Given the description of an element on the screen output the (x, y) to click on. 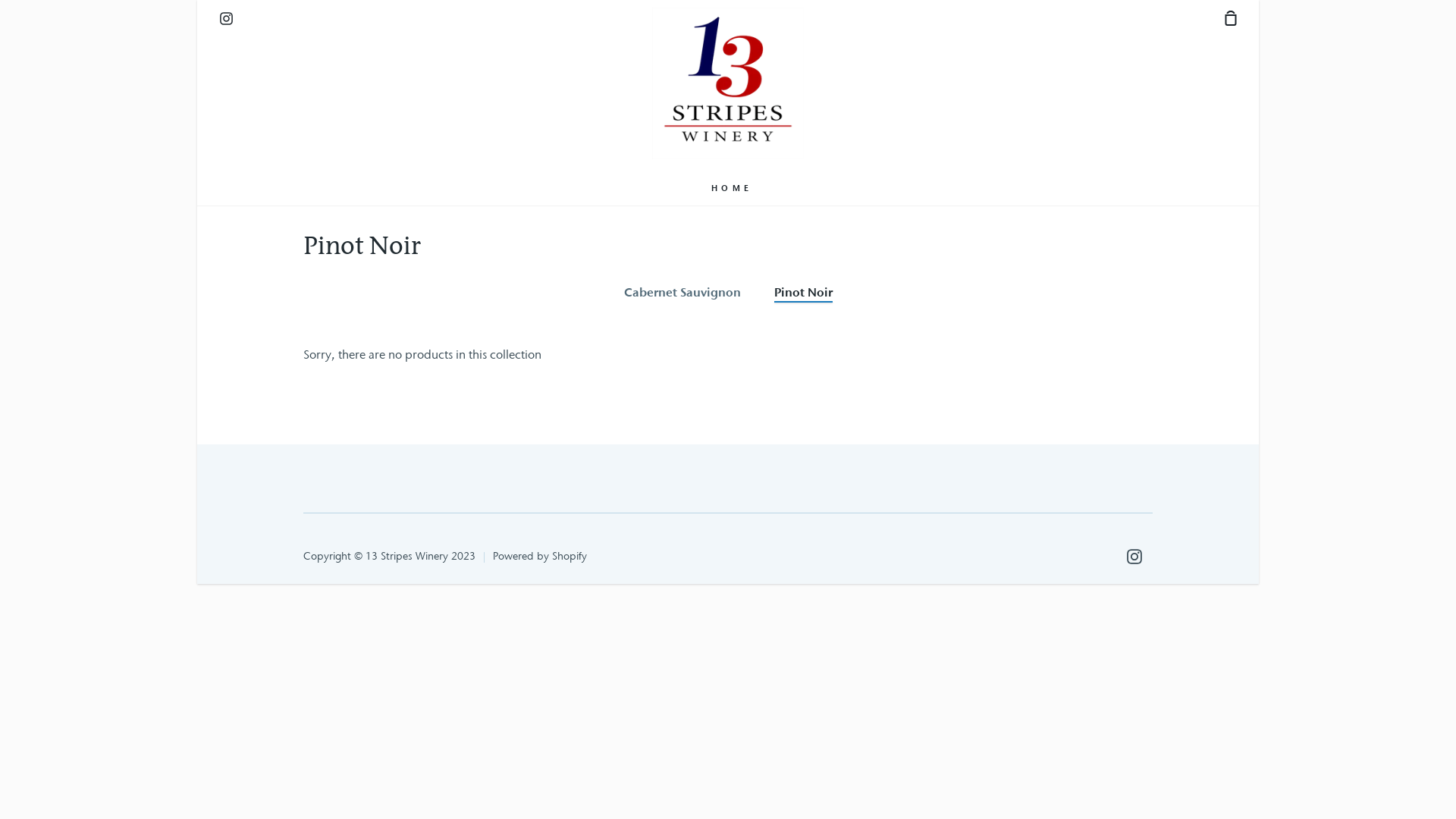
Shopping Cart Element type: text (1224, 17)
HOME Element type: text (731, 187)
Instagram Element type: text (225, 16)
Cabernet Sauvignon Element type: text (681, 291)
Powered by Shopify Element type: text (539, 555)
Pinot Noir Element type: text (802, 291)
Instagram Element type: text (1134, 556)
